Given the description of an element on the screen output the (x, y) to click on. 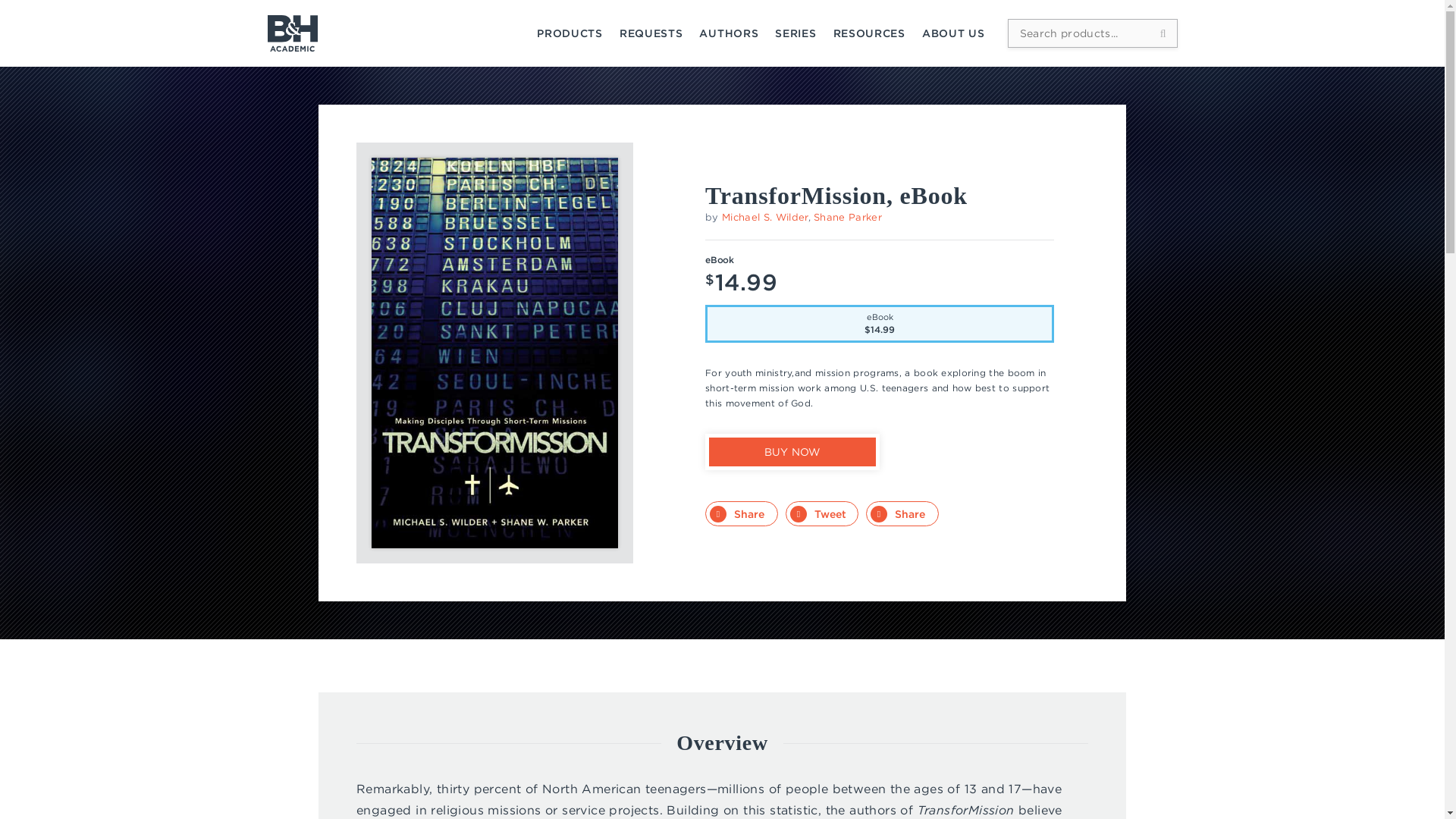
AUTHORS (728, 33)
RESOURCES (868, 33)
BUY NOW (792, 451)
Shane Parker (847, 216)
Twitter (822, 513)
LinkedIn (902, 513)
Go Back to Homepage (291, 33)
Michael S. Wilder (765, 216)
ABOUT US (953, 33)
PRODUCTS (569, 33)
Zoom In (590, 184)
Twitter (822, 513)
REQUESTS (651, 33)
Facebook (740, 513)
LinkedIn (902, 513)
